Given the description of an element on the screen output the (x, y) to click on. 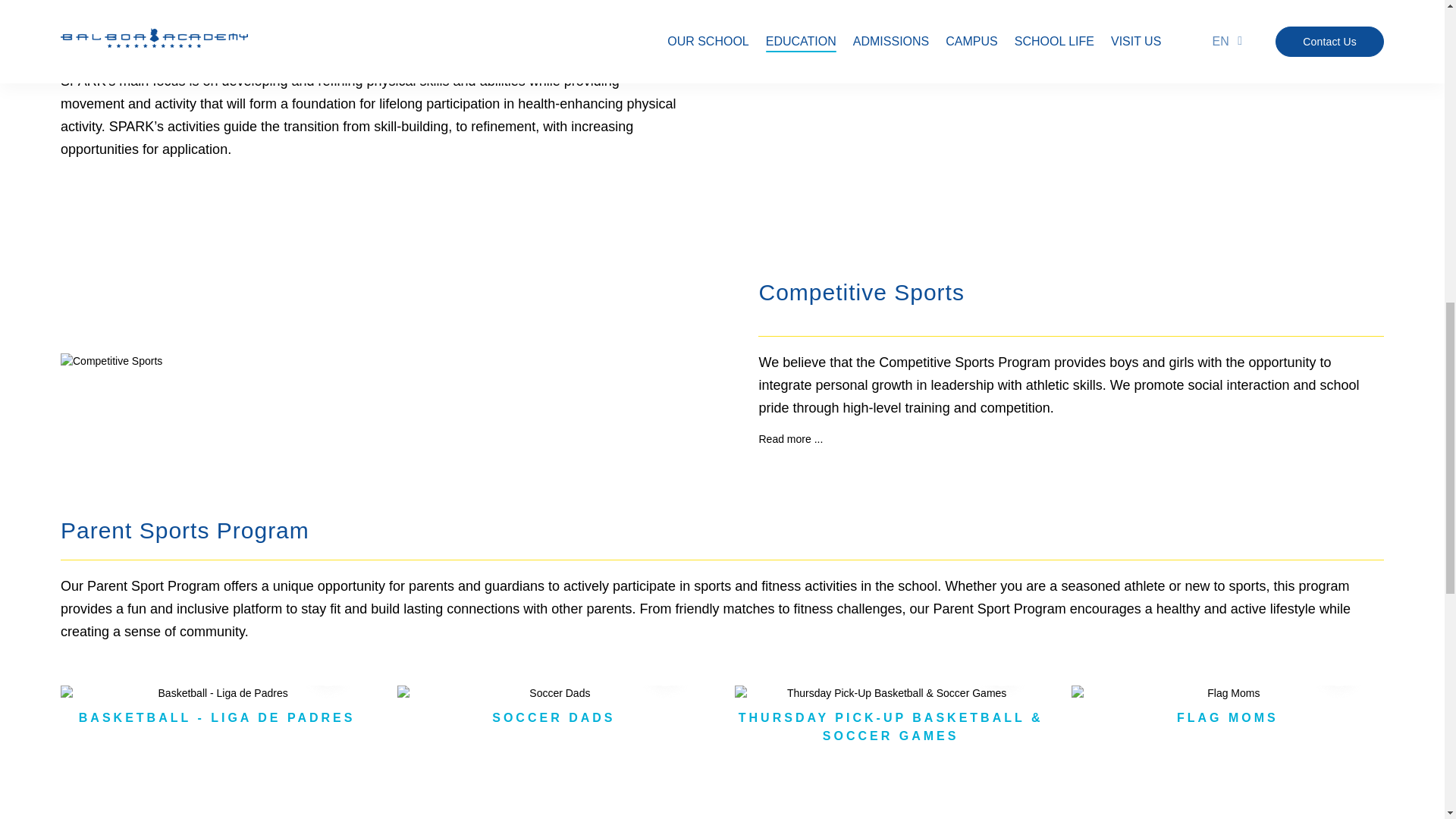
Soccer Dads (553, 693)
Competitive Sports (328, 360)
Flag Moms (1227, 693)
Physical Education (1115, 32)
Basketball - Liga de Padres (216, 693)
